Given the description of an element on the screen output the (x, y) to click on. 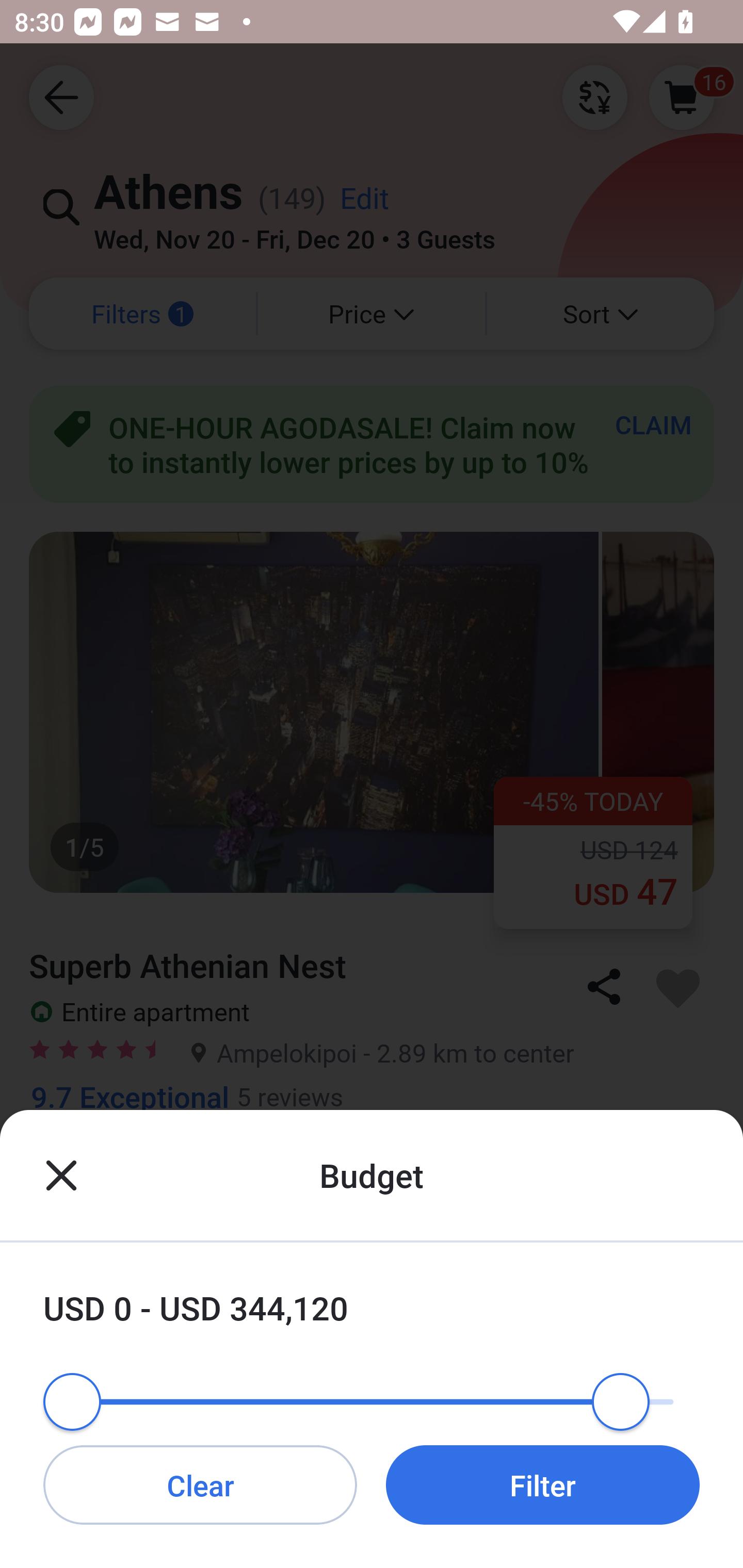
Free cancellation Rare Find (371, 1182)
Clear (200, 1484)
Filter (542, 1484)
